Given the description of an element on the screen output the (x, y) to click on. 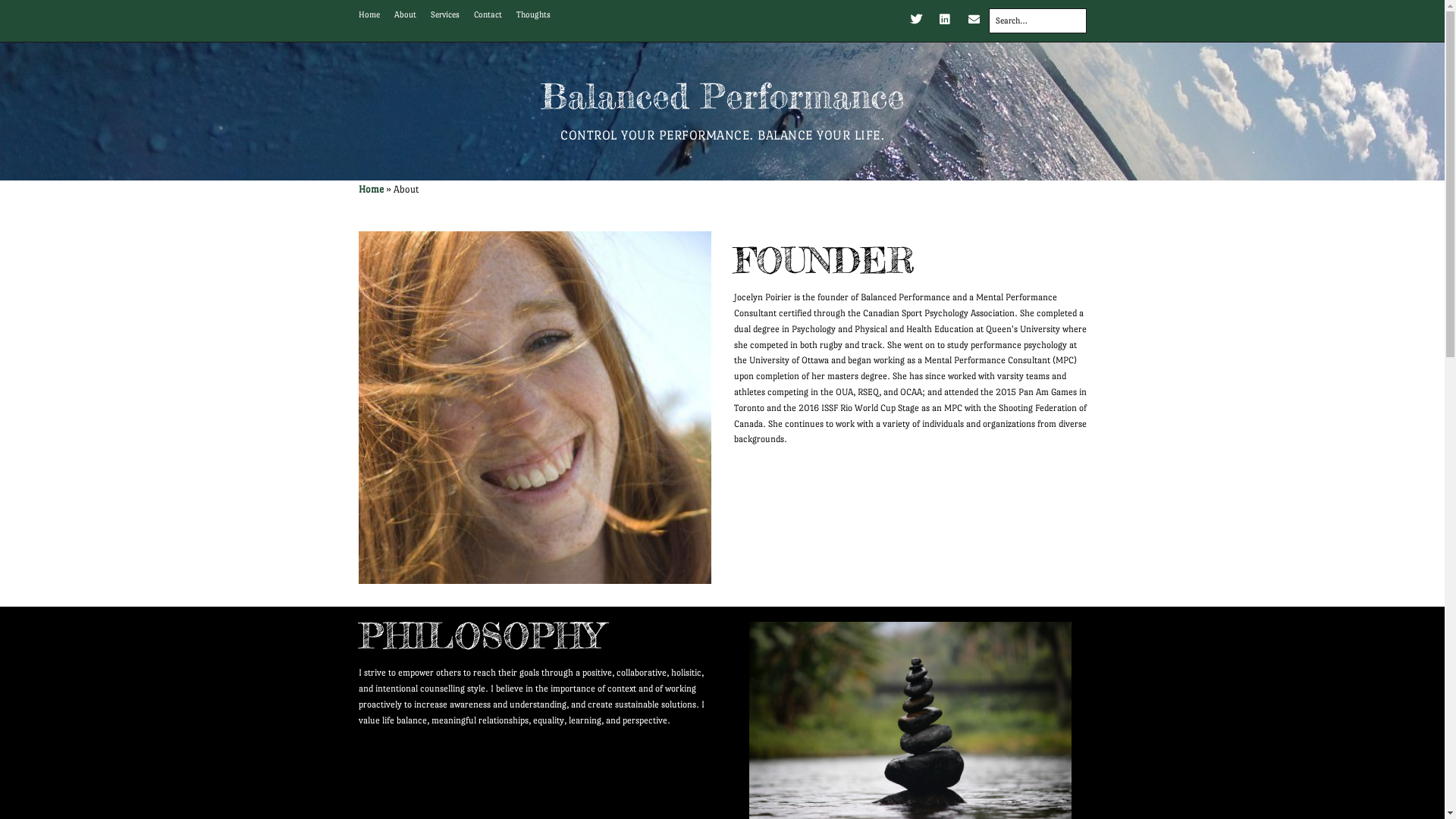
Search Element type: text (26, 15)
Home Element type: text (369, 188)
Press Enter to submit your search Element type: hover (1037, 20)
Services Element type: text (444, 14)
photographer 2 Element type: hover (533, 407)
Thoughts Element type: text (532, 14)
Contact Element type: text (487, 14)
About Element type: text (405, 14)
Home Element type: text (368, 14)
Balanced Performance Element type: text (721, 95)
